Given the description of an element on the screen output the (x, y) to click on. 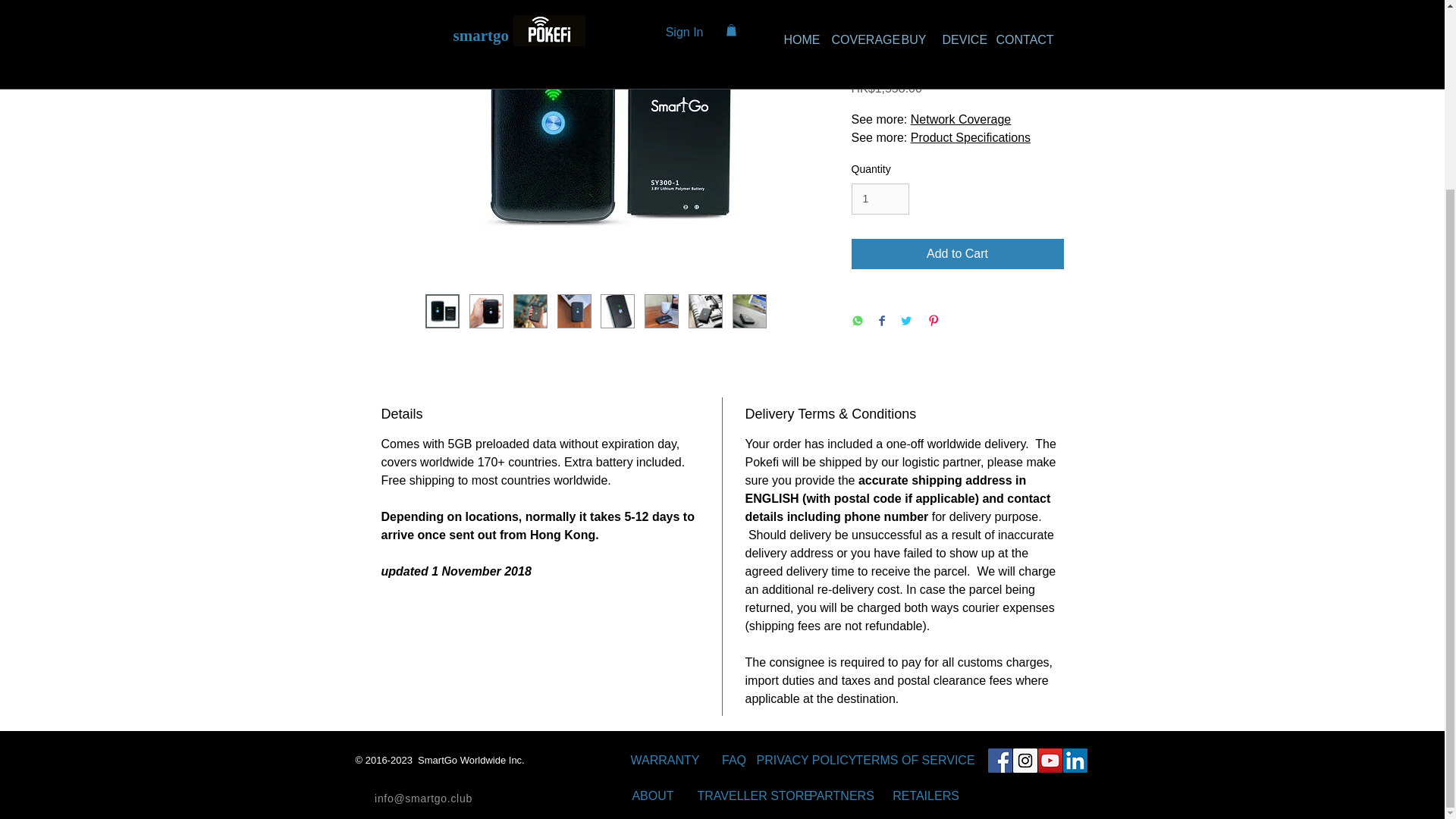
FAQ (733, 760)
PRIVACY POLICY (807, 760)
PARTNERS (841, 796)
WARRANTY (664, 760)
Network Coverage (961, 119)
ABOUT (652, 796)
Product Specifications (970, 137)
1 (879, 198)
TERMS OF SERVICE (915, 760)
Add to Cart (956, 254)
RETAILERS (924, 796)
TRAVELLER STORE (754, 796)
